Given the description of an element on the screen output the (x, y) to click on. 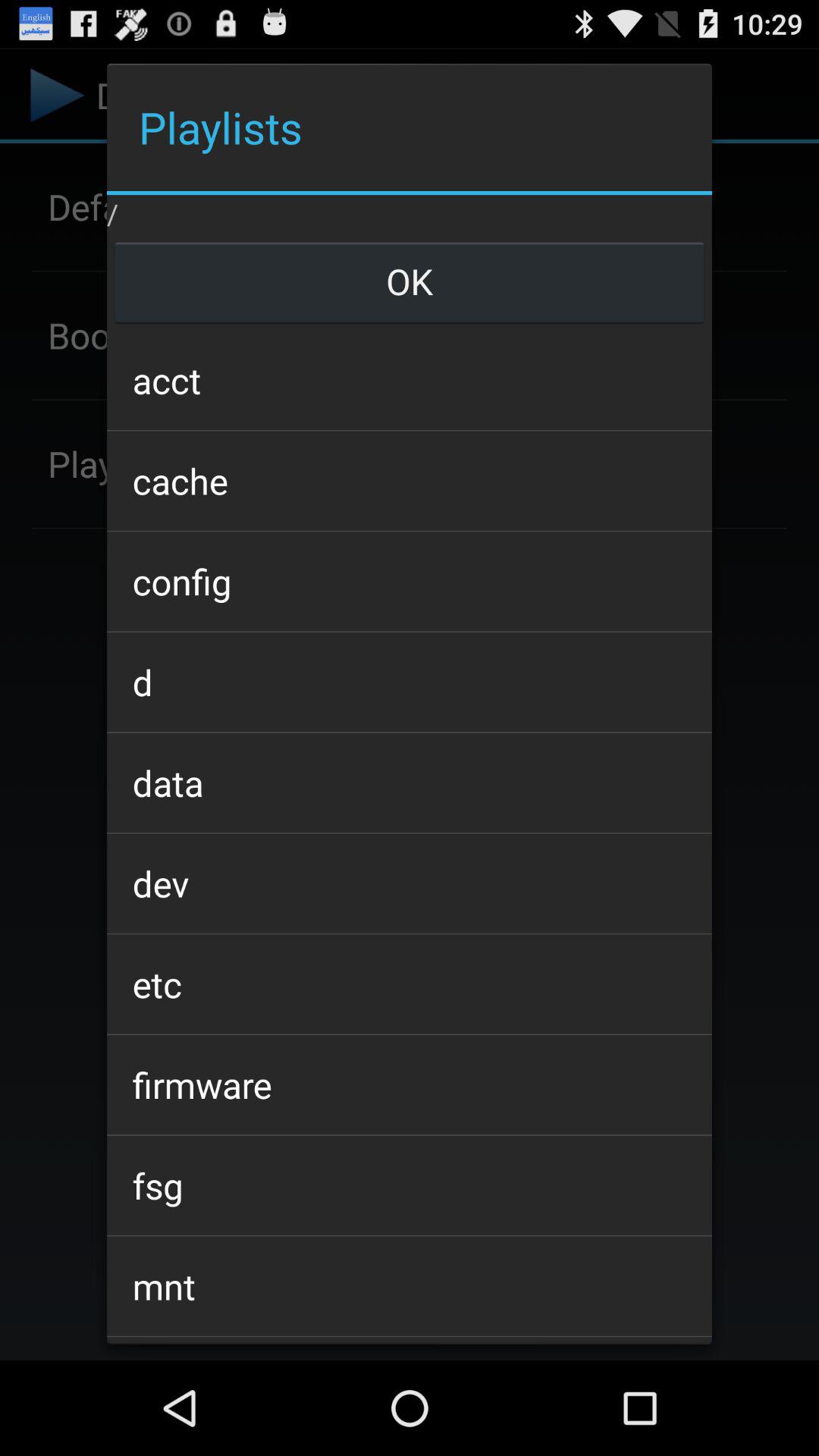
flip to ok icon (409, 281)
